Given the description of an element on the screen output the (x, y) to click on. 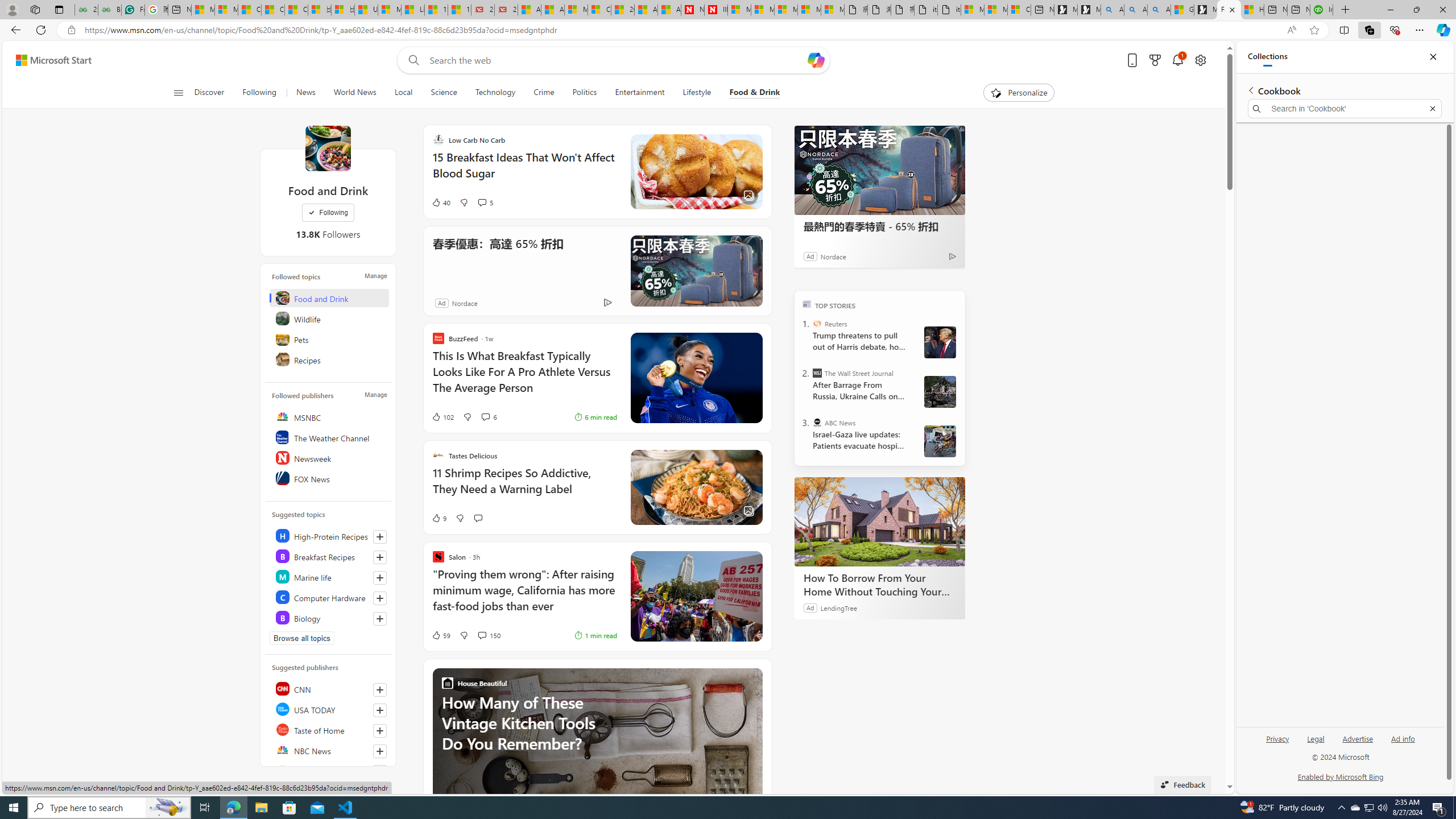
Cloud Computing Services | Microsoft Azure (598, 9)
15 Ways Modern Life Contradicts the Teachings of Jesus (459, 9)
15 Breakfast Ideas That Won't Affect Blood Sugar (524, 171)
